Given the description of an element on the screen output the (x, y) to click on. 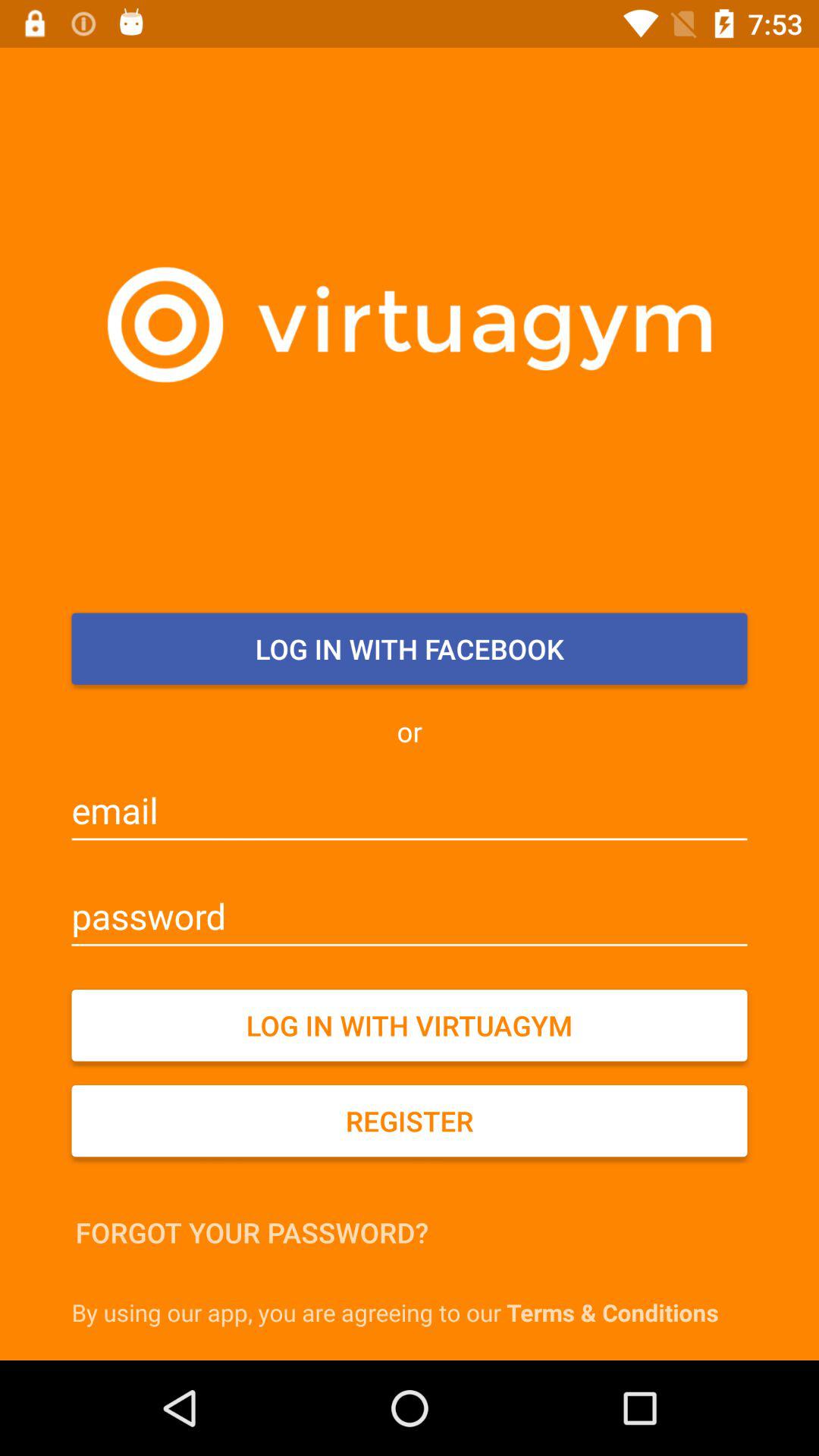
tap the item above the by using our item (251, 1232)
